Given the description of an element on the screen output the (x, y) to click on. 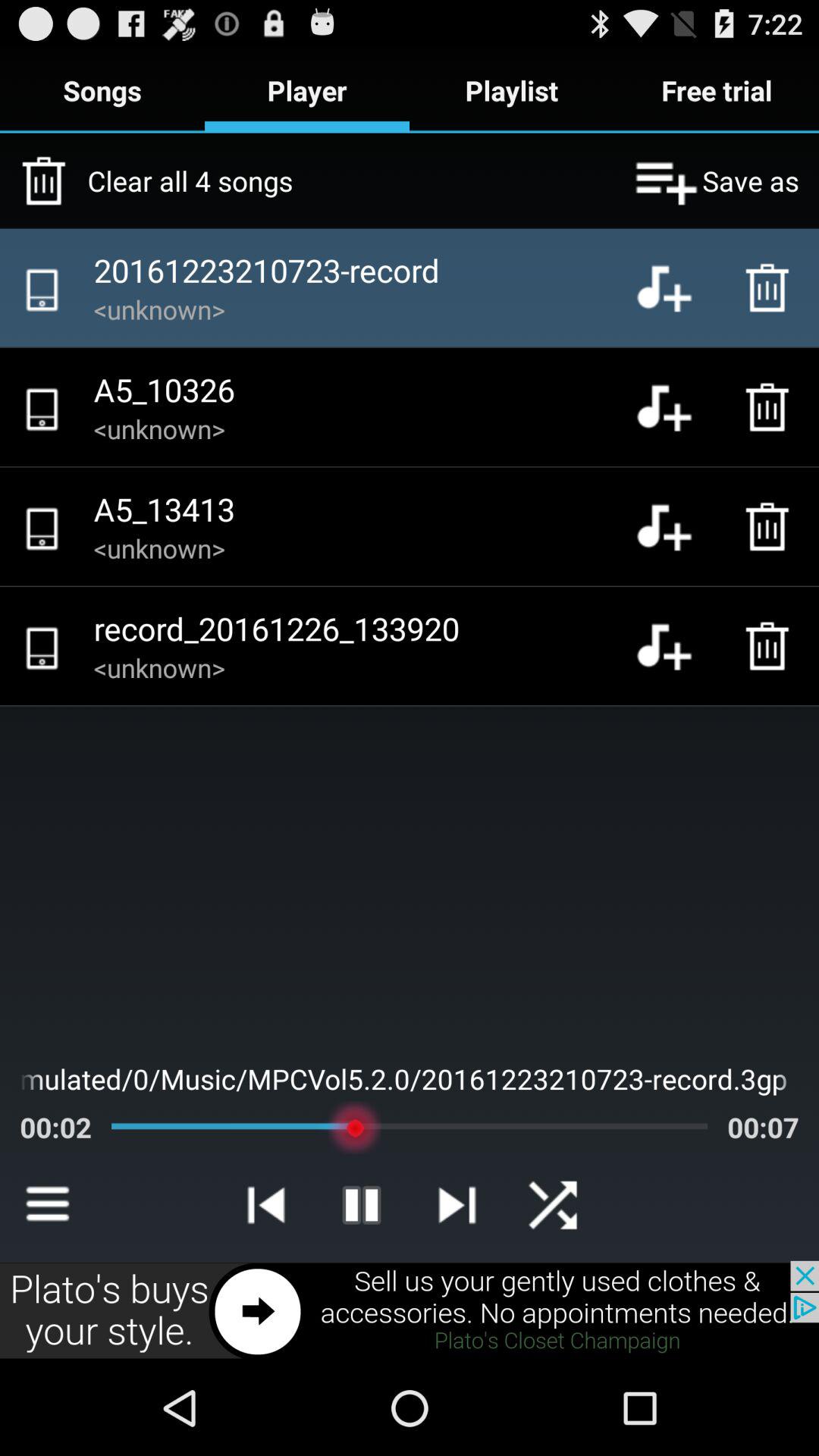
delete (771, 526)
